Given the description of an element on the screen output the (x, y) to click on. 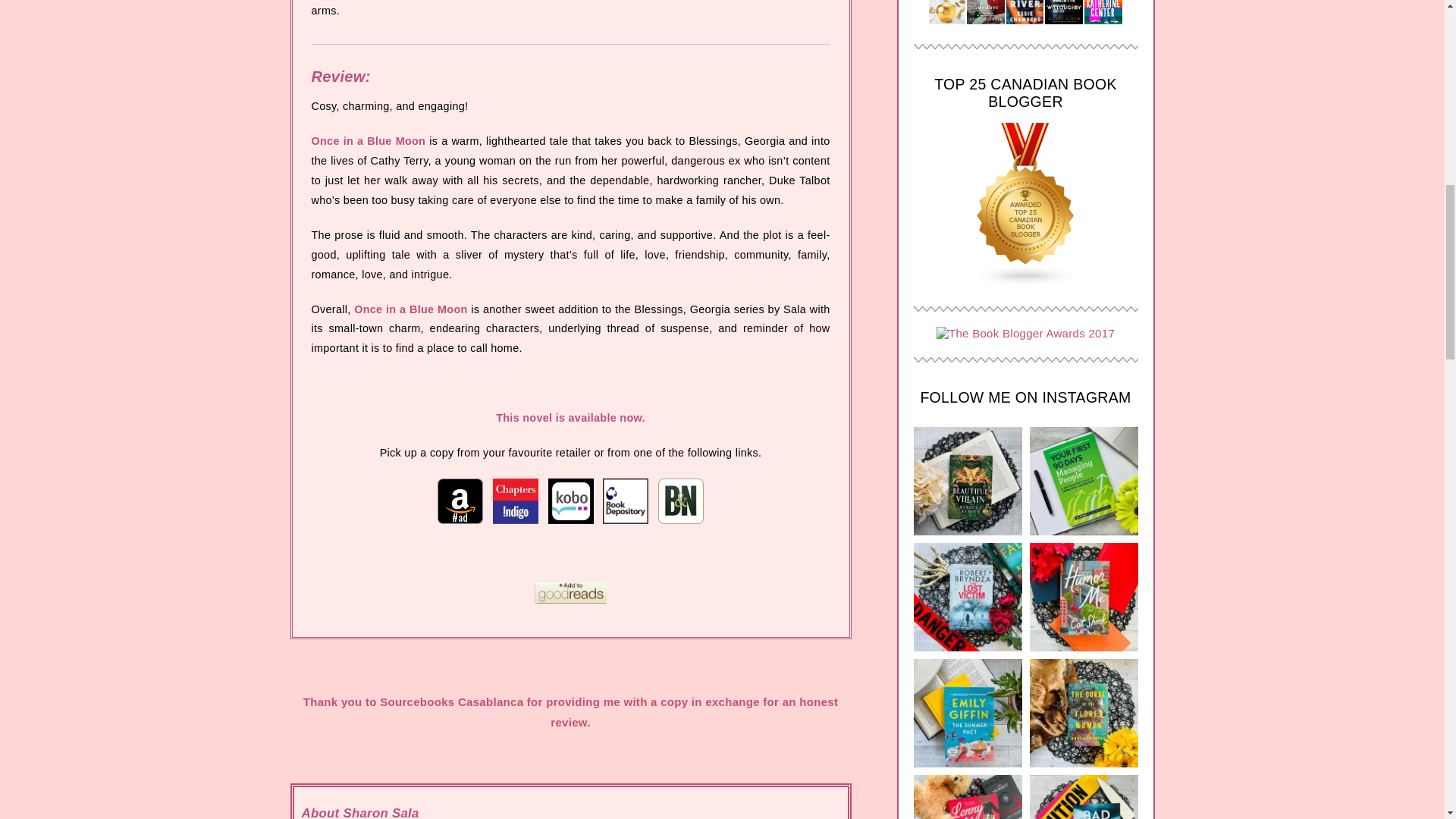
goodreads-badge-add-plus-71eae69ca0307d077df66a58ec068898 (570, 591)
Canadian Book Bloggers (1024, 282)
